Given the description of an element on the screen output the (x, y) to click on. 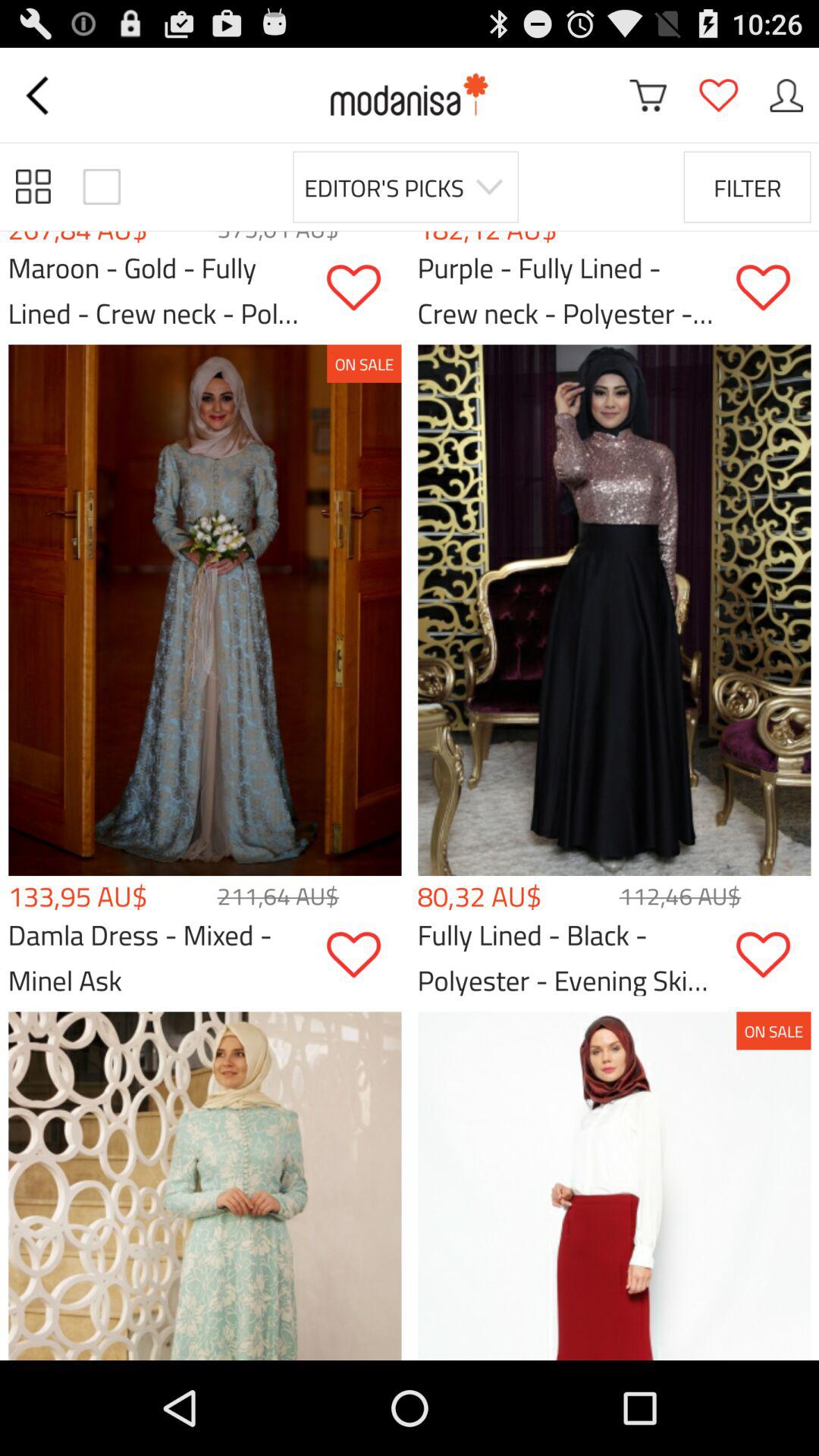
favorite this dress (773, 287)
